Given the description of an element on the screen output the (x, y) to click on. 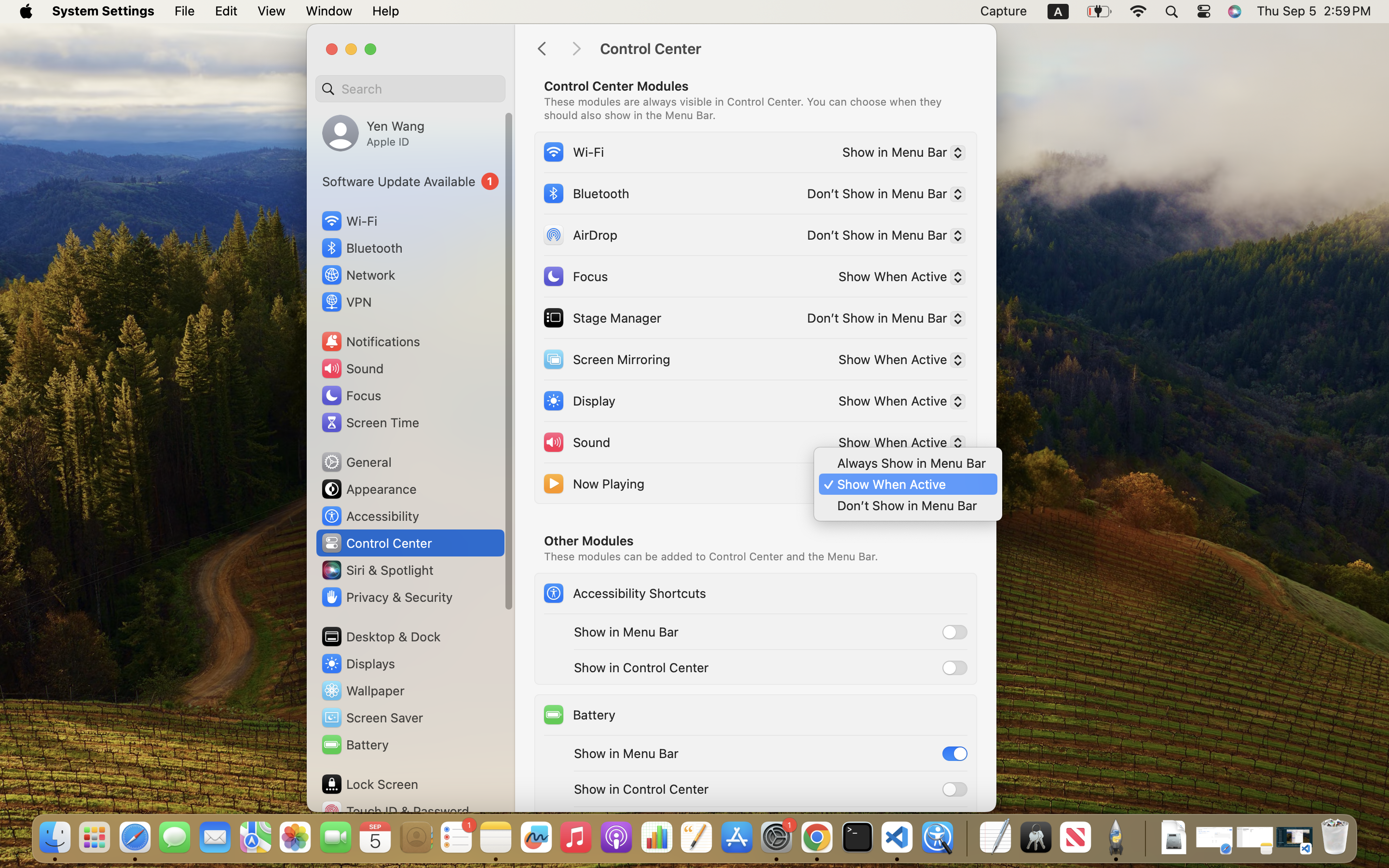
Privacy & Security Element type: AXStaticText (386, 596)
Display Element type: AXStaticText (578, 399)
Show in Menu Bar Element type: AXPopUpButton (899, 153)
Wallpaper Element type: AXStaticText (362, 690)
